Given the description of an element on the screen output the (x, y) to click on. 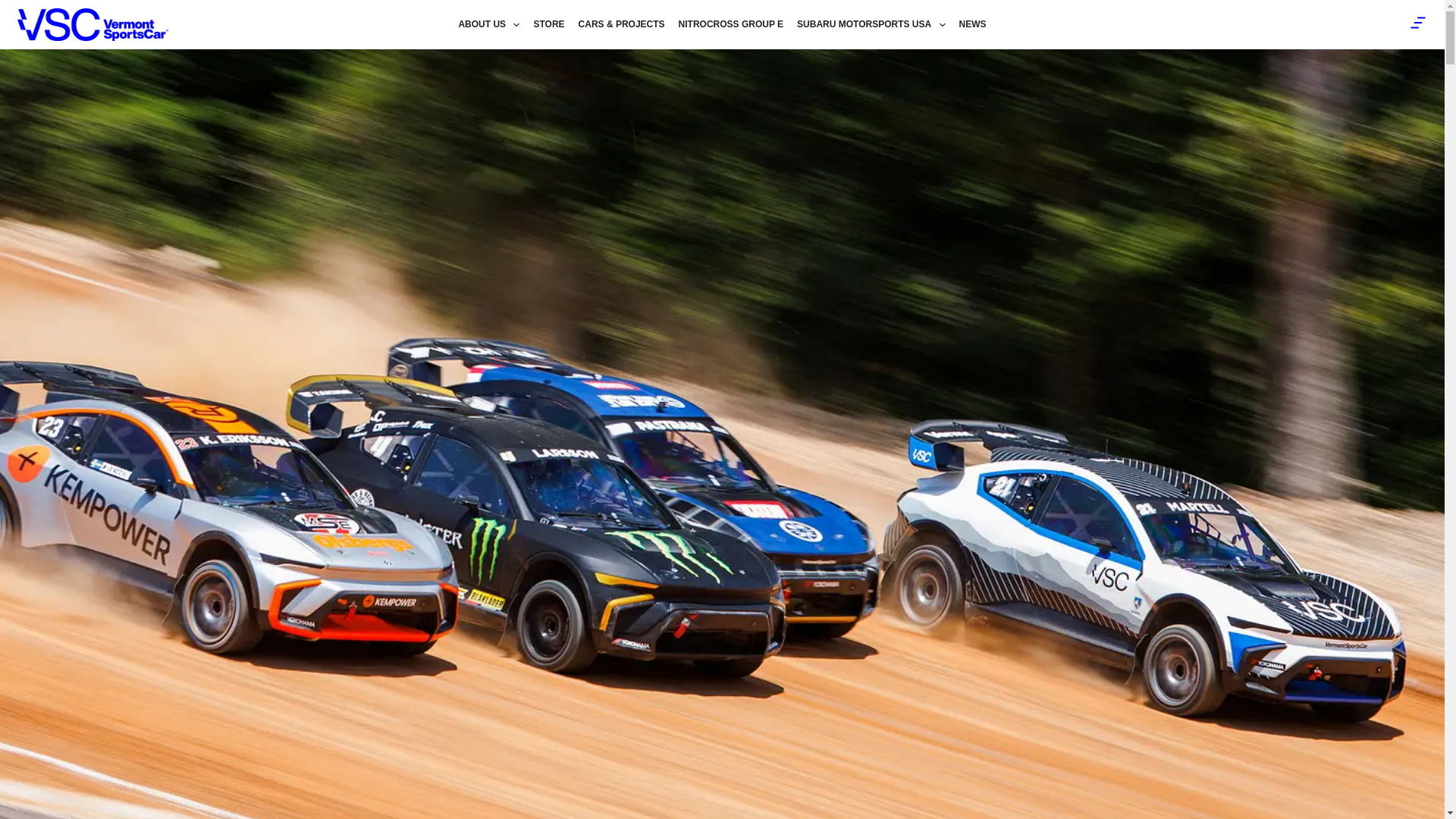
STORE (547, 24)
ABOUT US (488, 24)
Skip to content (15, 7)
